Given the description of an element on the screen output the (x, y) to click on. 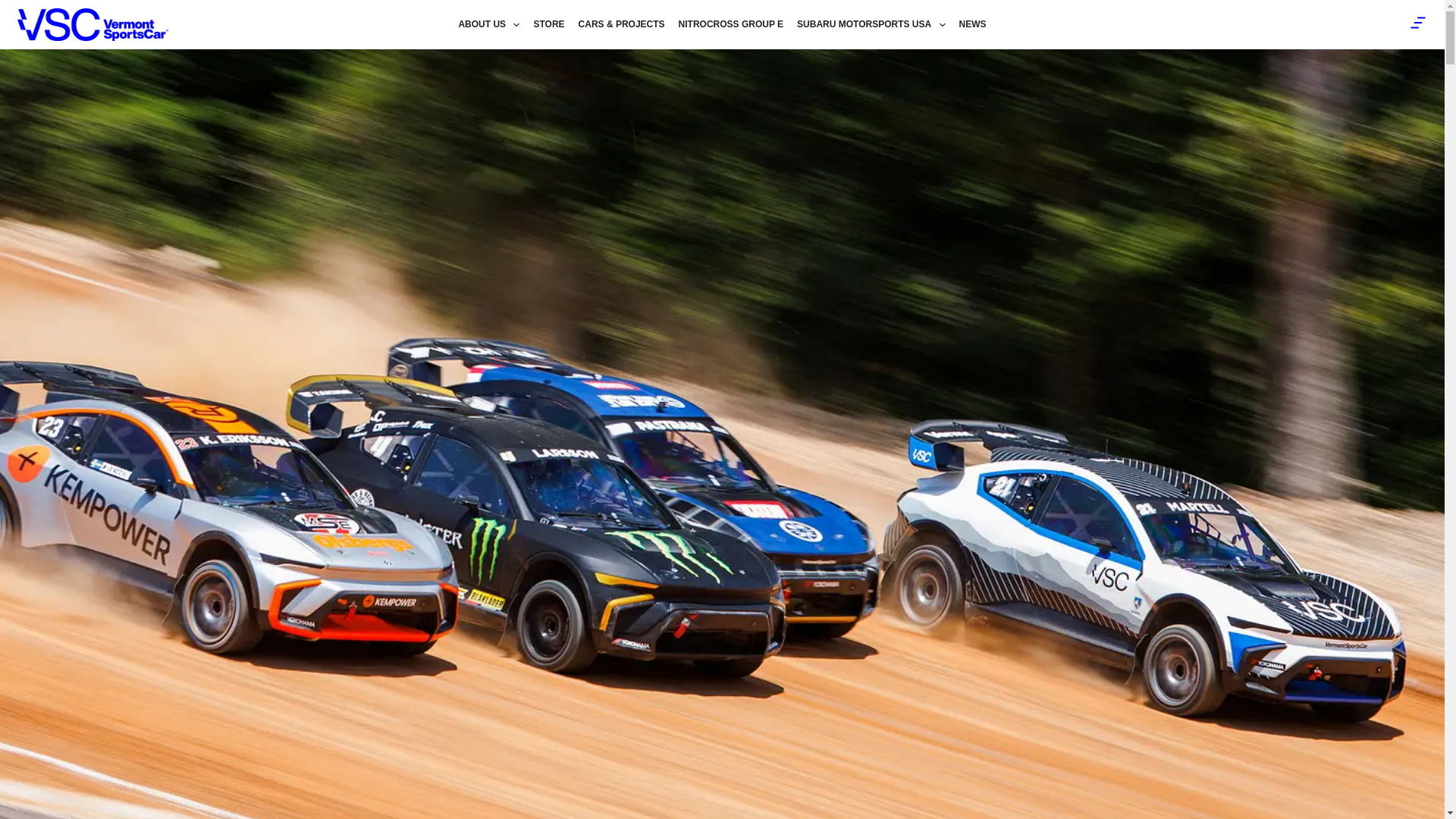
STORE (547, 24)
ABOUT US (488, 24)
Skip to content (15, 7)
